Given the description of an element on the screen output the (x, y) to click on. 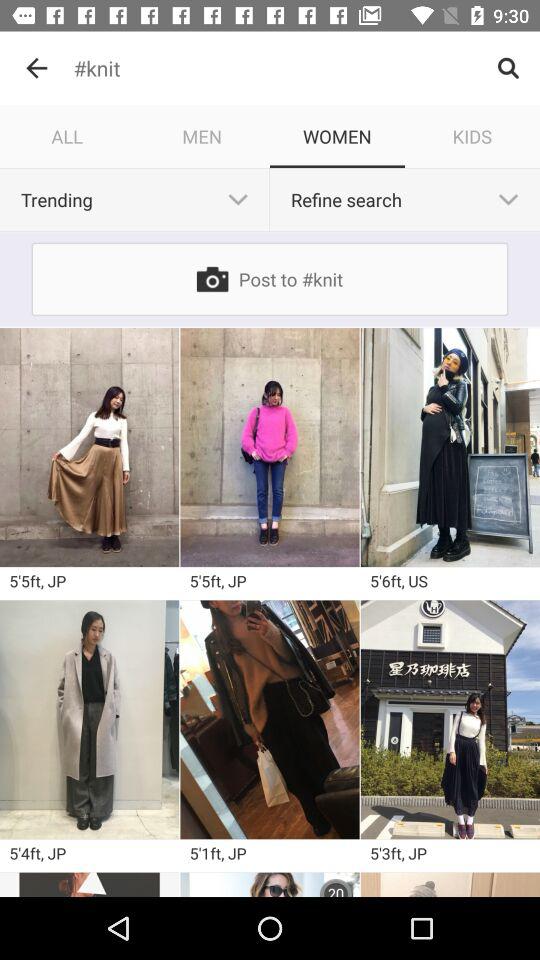
image for the search knit women dress (450, 447)
